Given the description of an element on the screen output the (x, y) to click on. 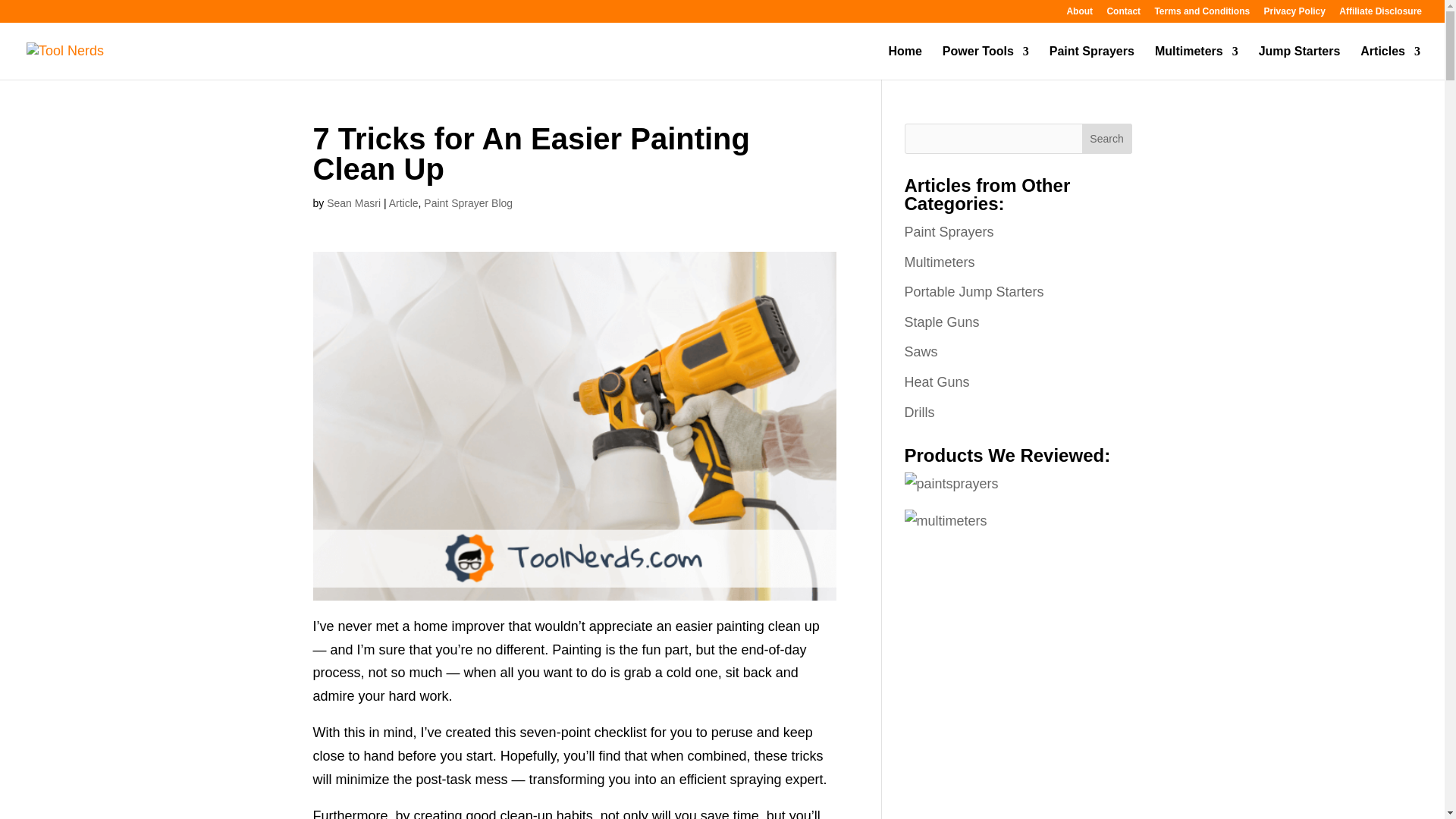
Posts by Sean Masri (353, 203)
Power Tools (985, 62)
Articles (1390, 62)
Multimeters (1196, 62)
Home (904, 62)
Terms and Conditions (1201, 14)
About (1079, 14)
Privacy Policy (1293, 14)
Paint Sprayers (1091, 62)
